Given the description of an element on the screen output the (x, y) to click on. 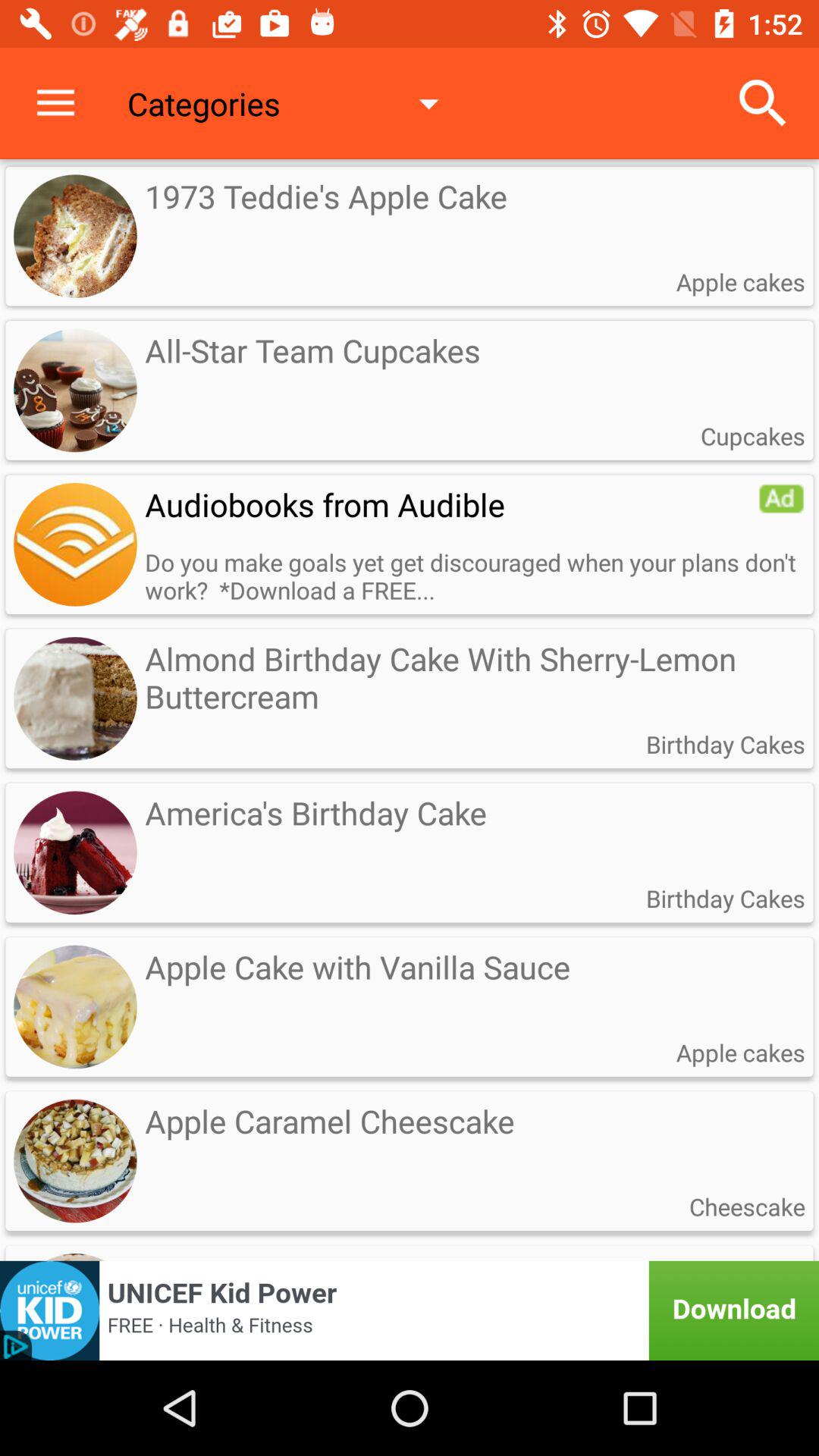
scroll until the do you make (475, 576)
